Given the description of an element on the screen output the (x, y) to click on. 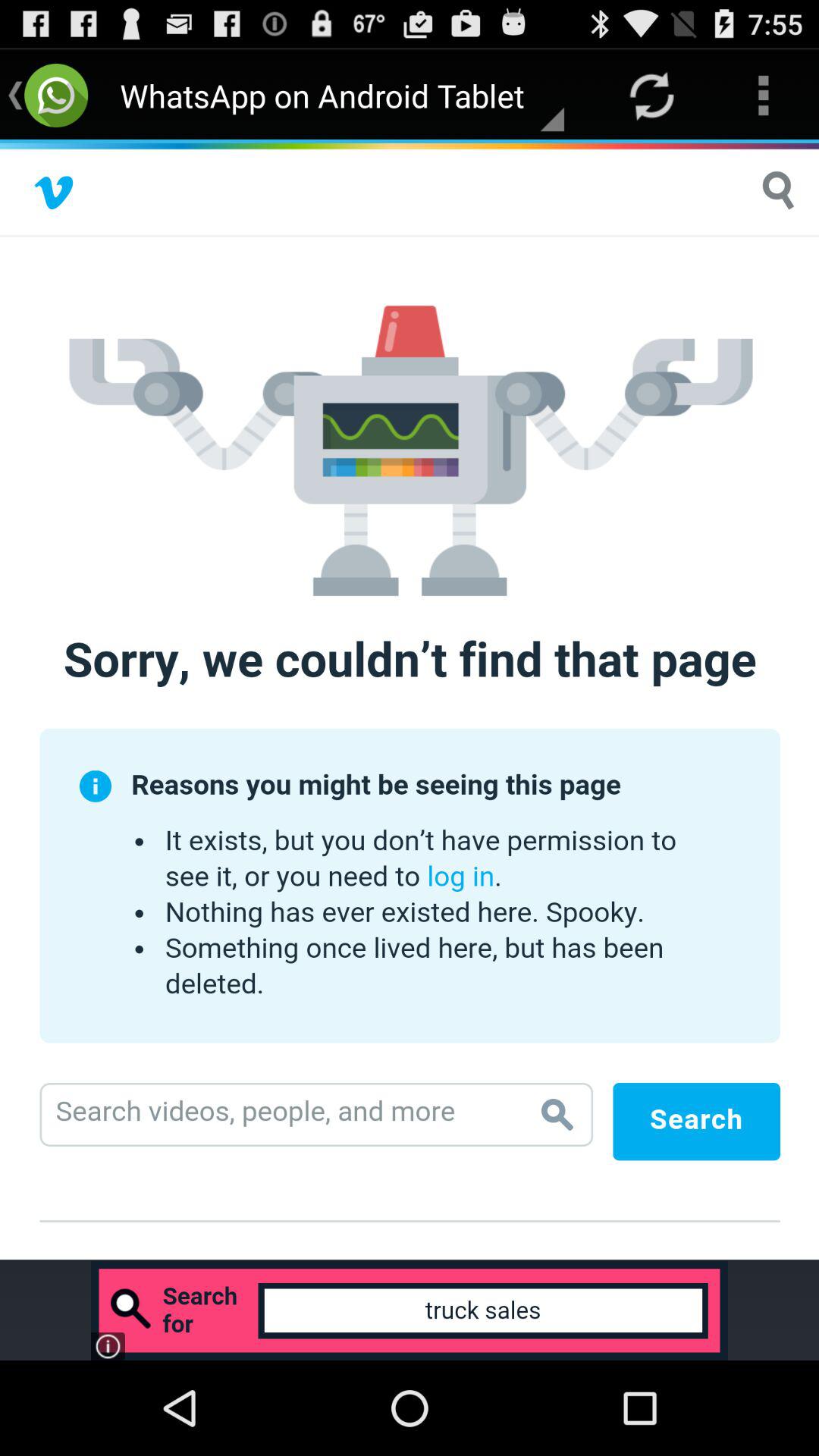
click advertisement (409, 1310)
